Given the description of an element on the screen output the (x, y) to click on. 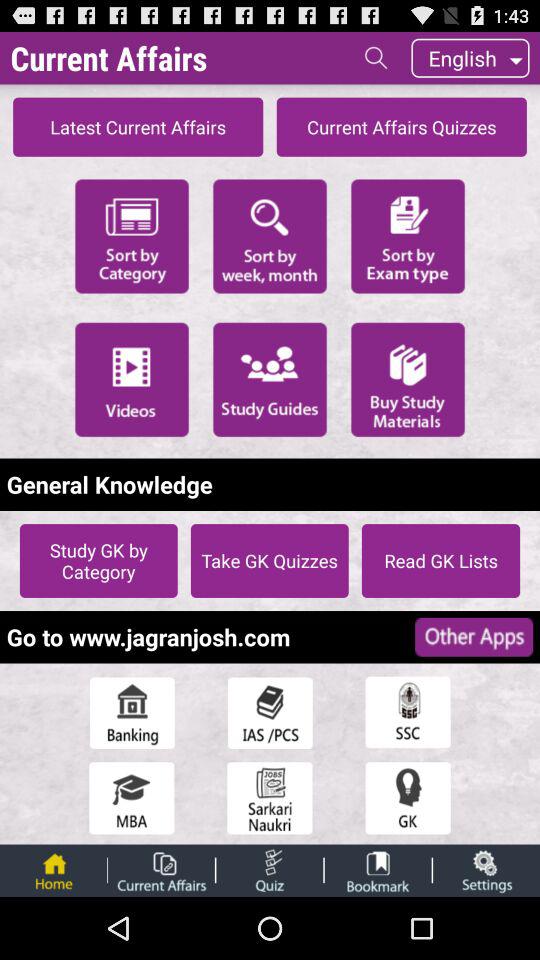
quiz (269, 870)
